Given the description of an element on the screen output the (x, y) to click on. 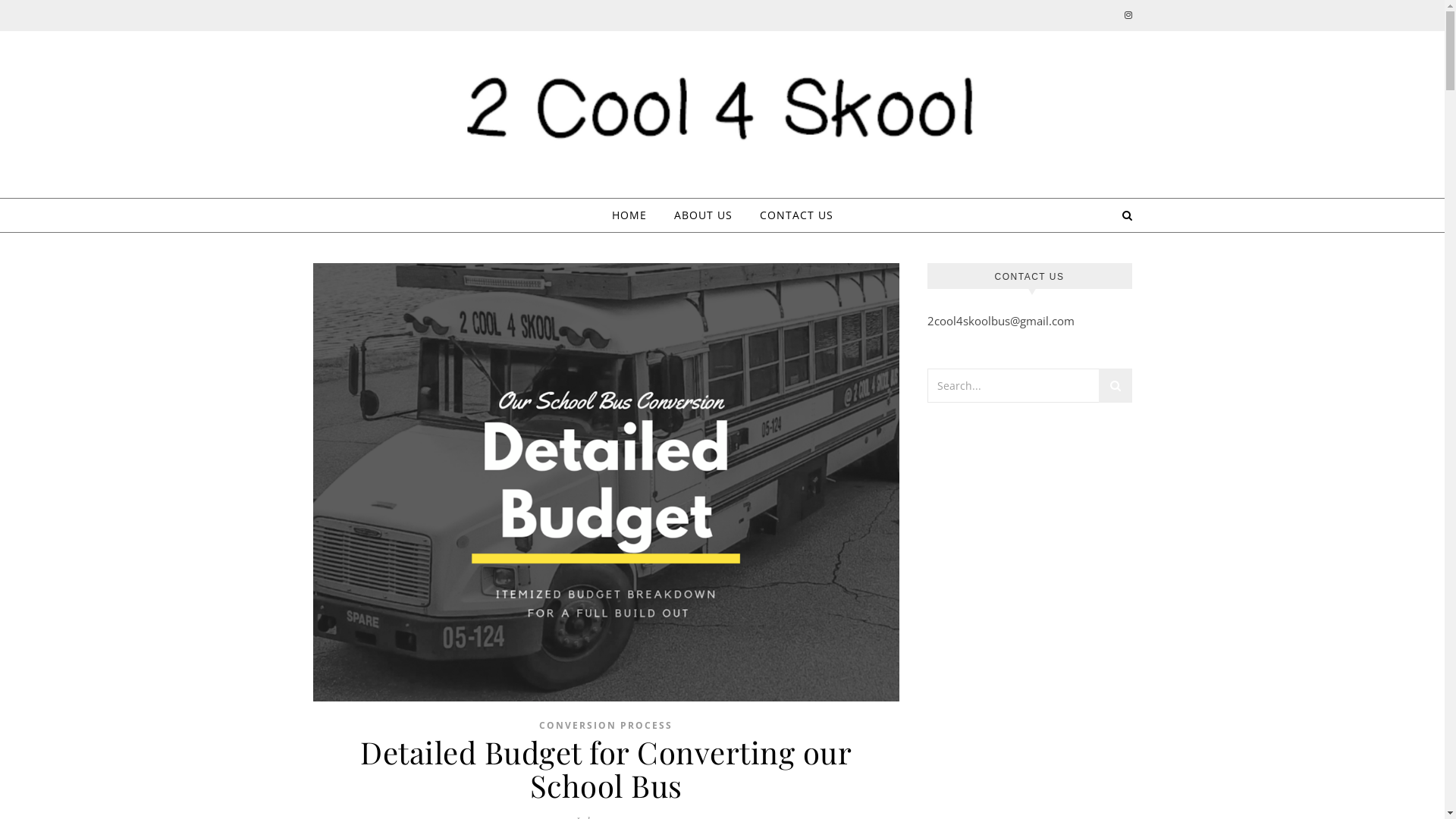
CONVERSION PROCESS Element type: text (605, 724)
HOME Element type: text (634, 215)
2 Cool 4 Skool Bus  Element type: hover (721, 111)
2cool4skoolbus@gmail.com Element type: text (999, 320)
CONTACT US Element type: text (790, 215)
ABOUT US Element type: text (702, 215)
st Element type: text (1114, 387)
